Given the description of an element on the screen output the (x, y) to click on. 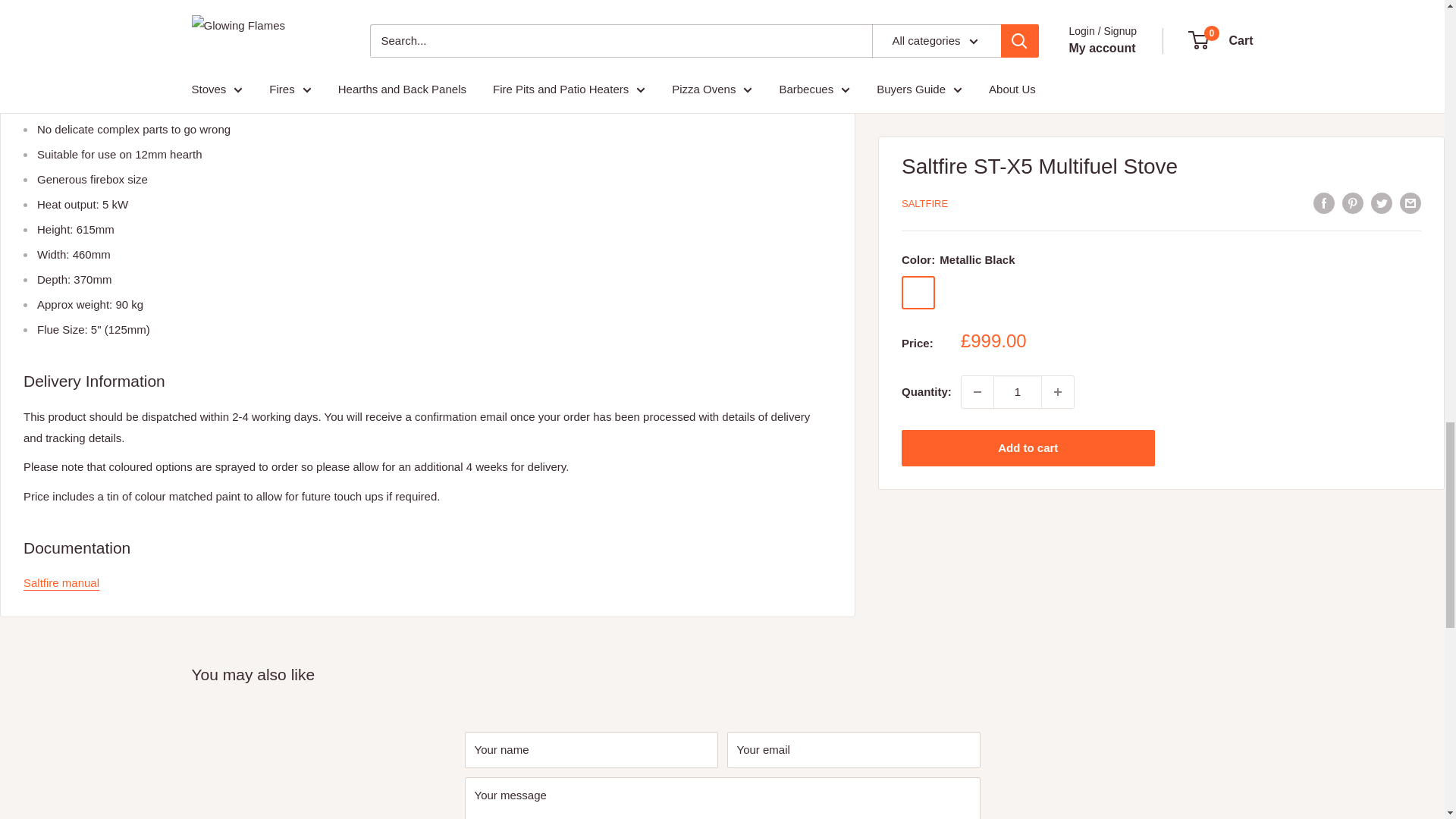
Saltfire ST-X manual - Glowing Flames (61, 582)
